Given the description of an element on the screen output the (x, y) to click on. 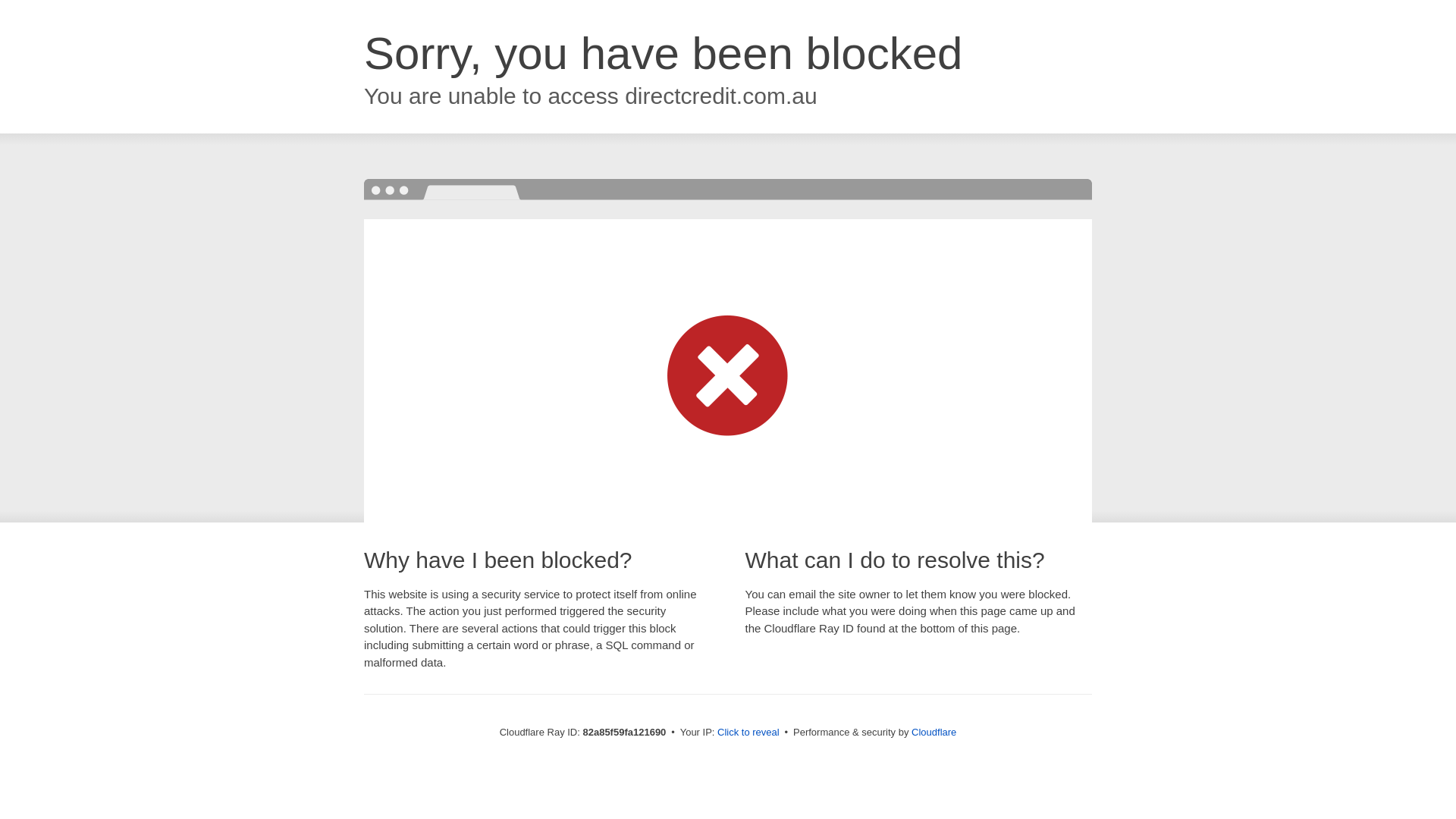
Cloudflare Element type: text (933, 731)
Click to reveal Element type: text (748, 732)
